Given the description of an element on the screen output the (x, y) to click on. 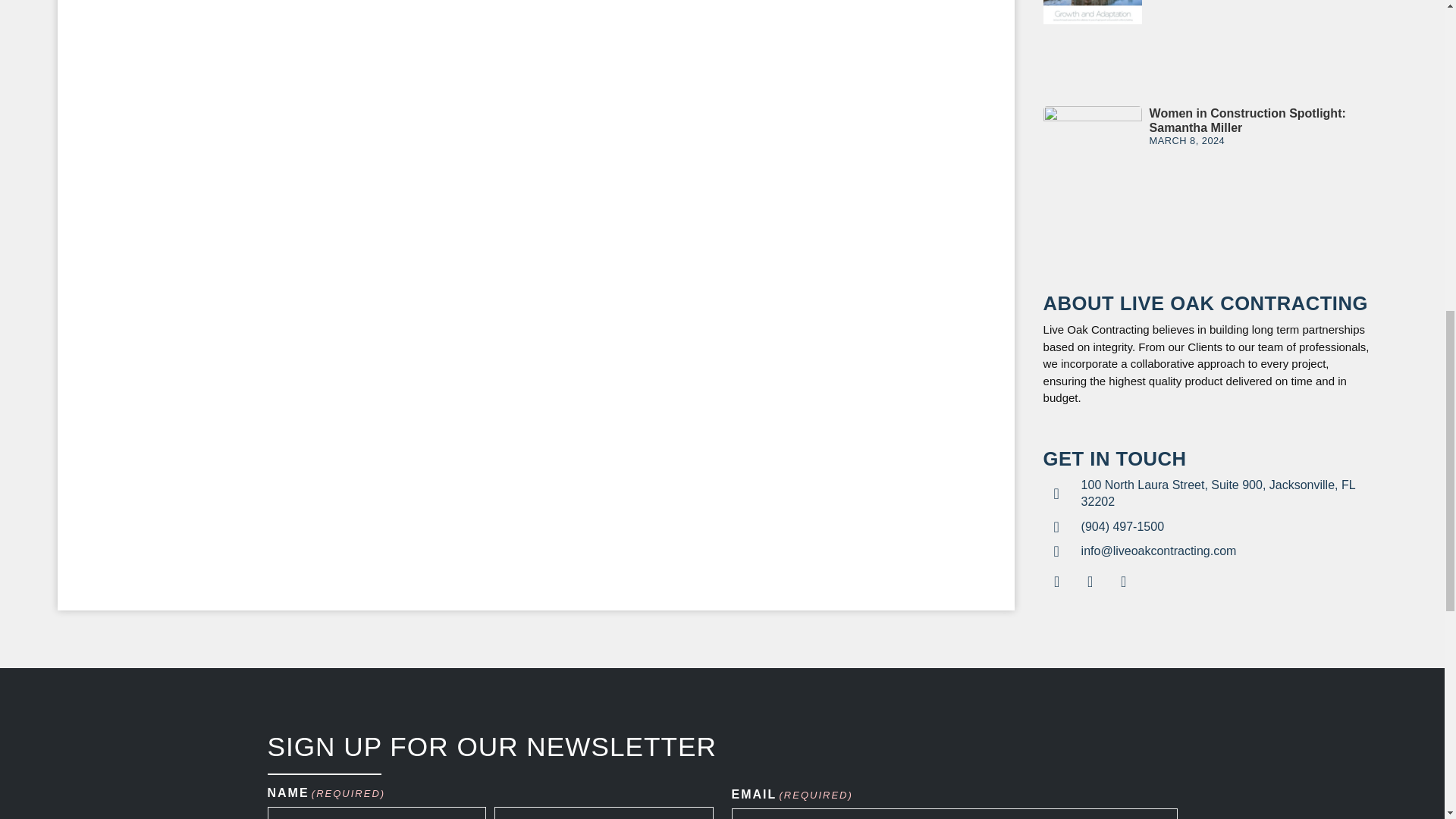
Follow us on Facebook - opens in new tab (1056, 581)
Live Oak's LinkedIn profile - opens in new tab (1090, 581)
Live Oak's Instagram profile - opens in new tab (1123, 581)
